Given the description of an element on the screen output the (x, y) to click on. 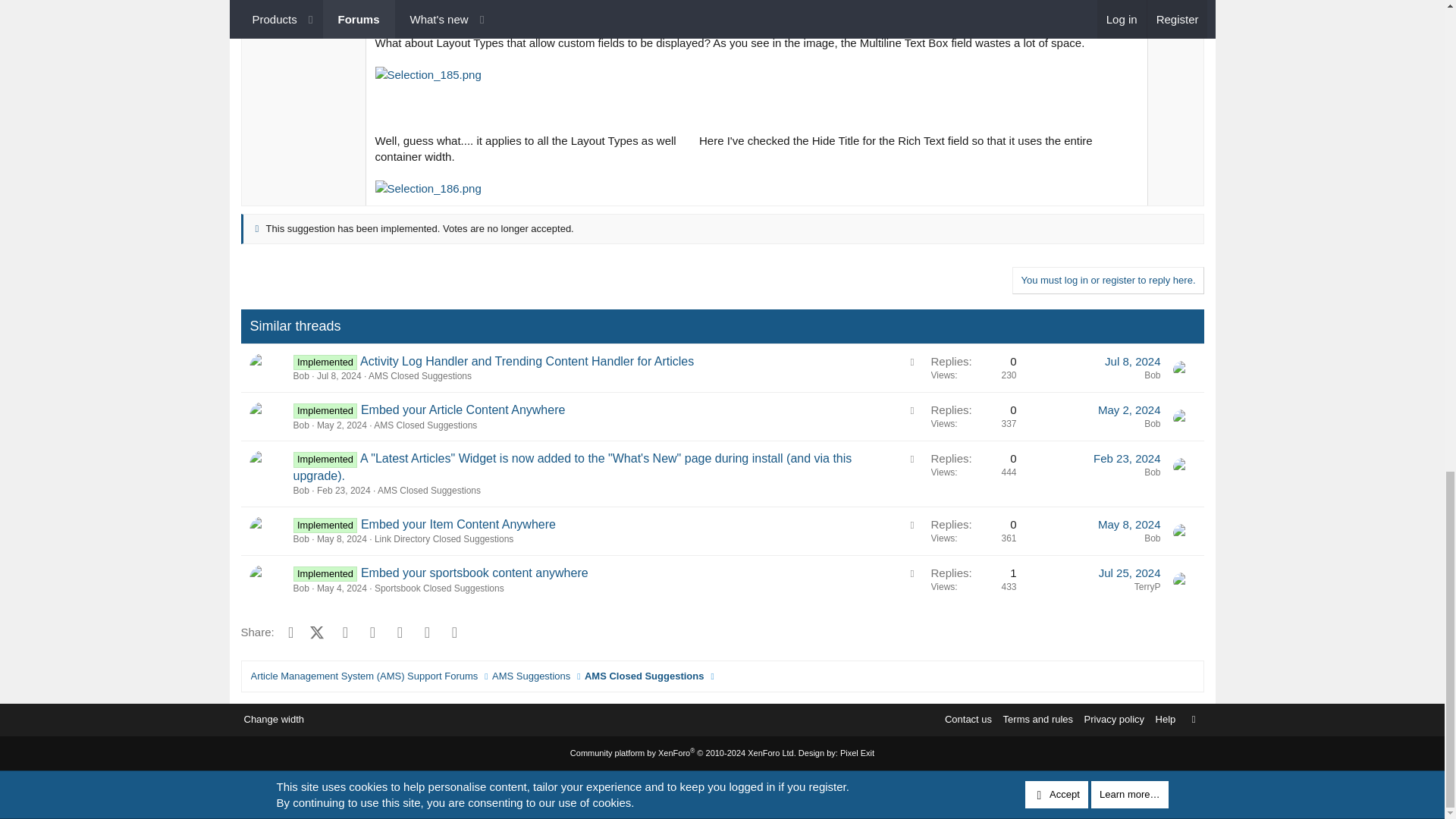
Jul 8, 2024 at 10:52 AM (339, 376)
Big Grin    :D (687, 138)
Jul 8, 2024 at 10:52 AM (1132, 360)
First message reaction score: 0 (973, 367)
